Given the description of an element on the screen output the (x, y) to click on. 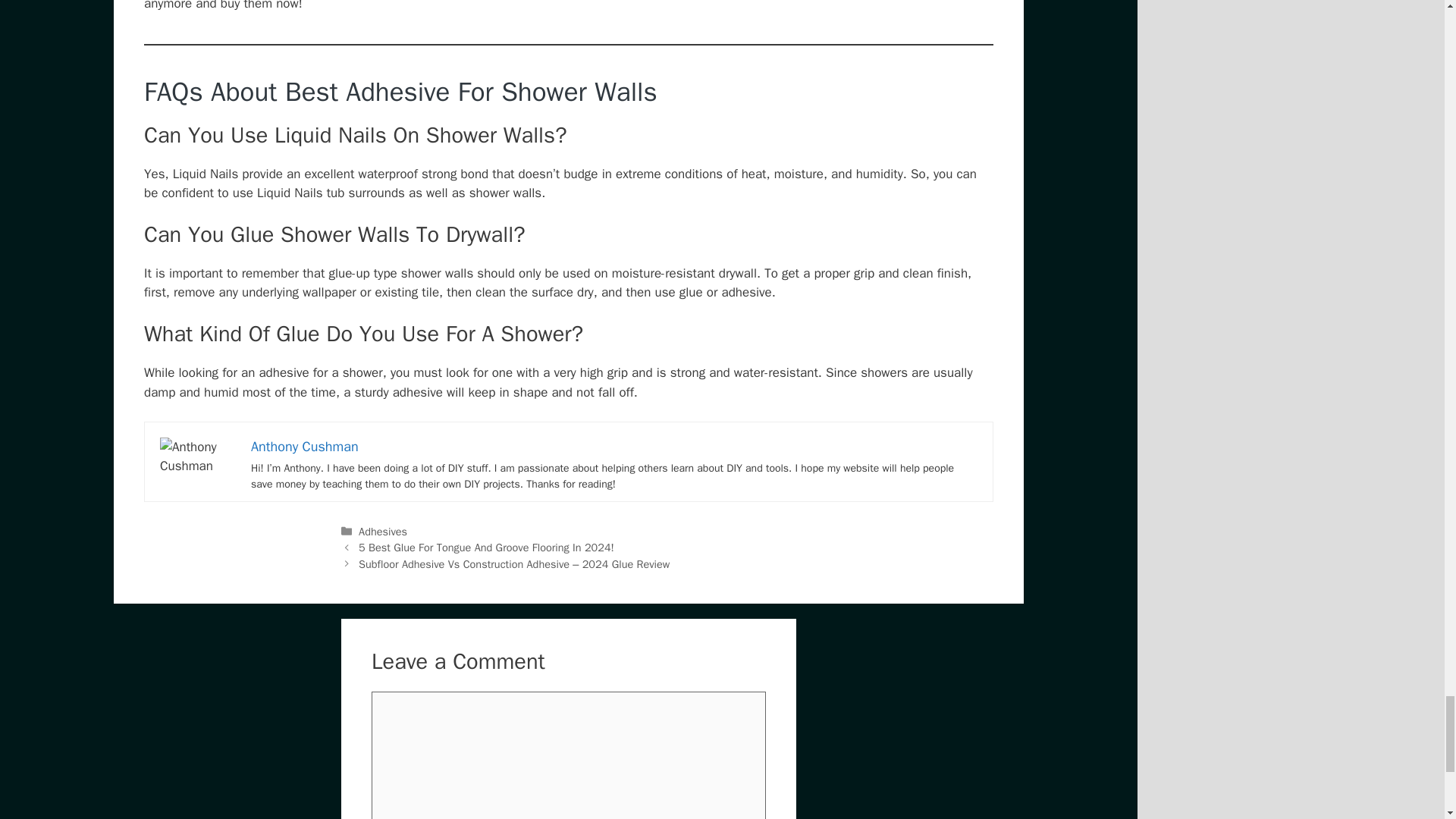
Adhesives (382, 531)
Anthony Cushman (304, 446)
5 Best Glue For Tongue And Groove Flooring In 2024! (486, 547)
